Given the description of an element on the screen output the (x, y) to click on. 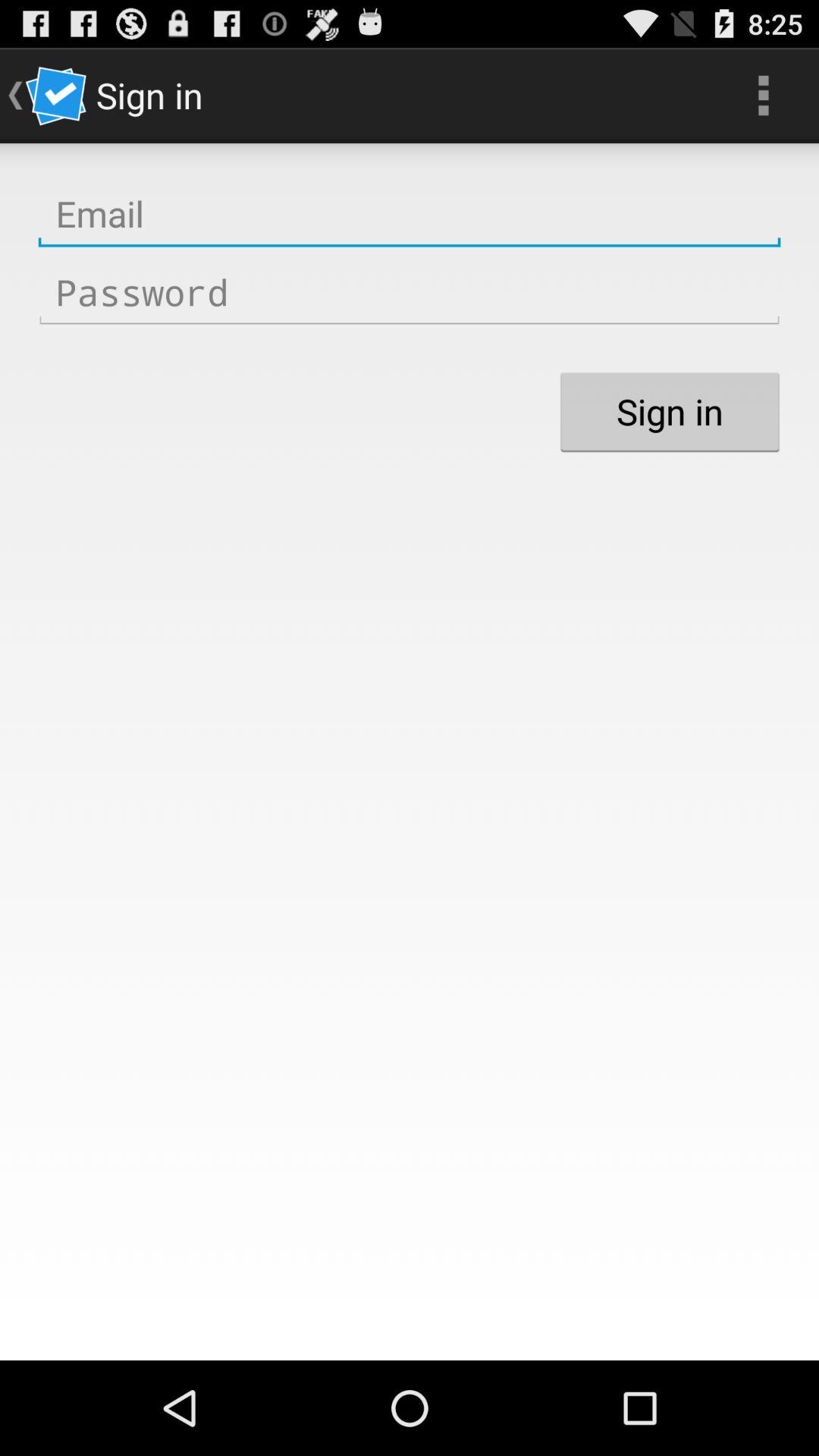
type in email (409, 214)
